Given the description of an element on the screen output the (x, y) to click on. 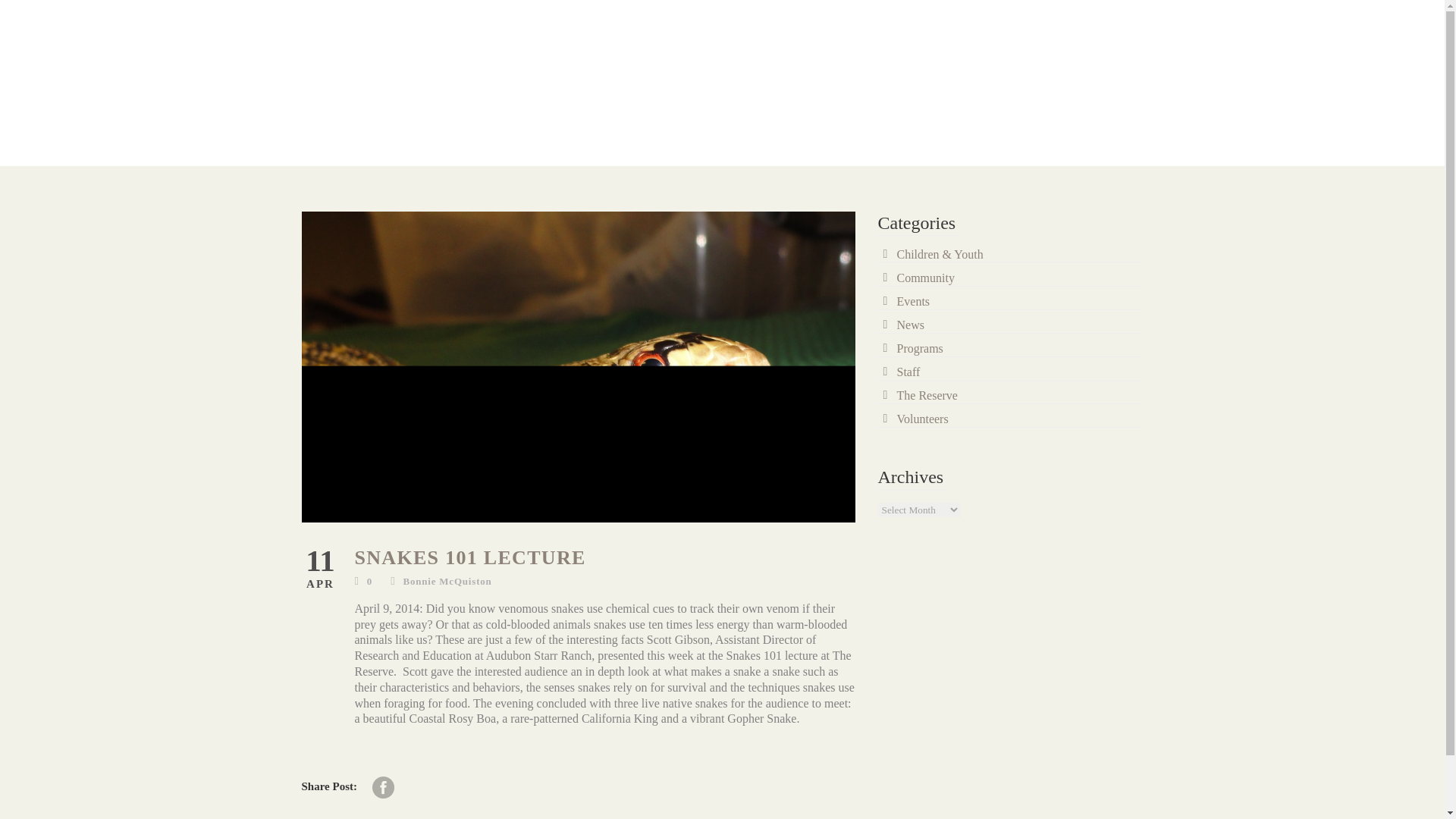
Volunteers (921, 418)
Events (913, 300)
Bonnie McQuiston (447, 581)
News (909, 324)
Community (924, 277)
Staff (908, 371)
Programs (919, 348)
The Reserve (926, 395)
Posts by Bonnie McQuiston (447, 581)
